Given the description of an element on the screen output the (x, y) to click on. 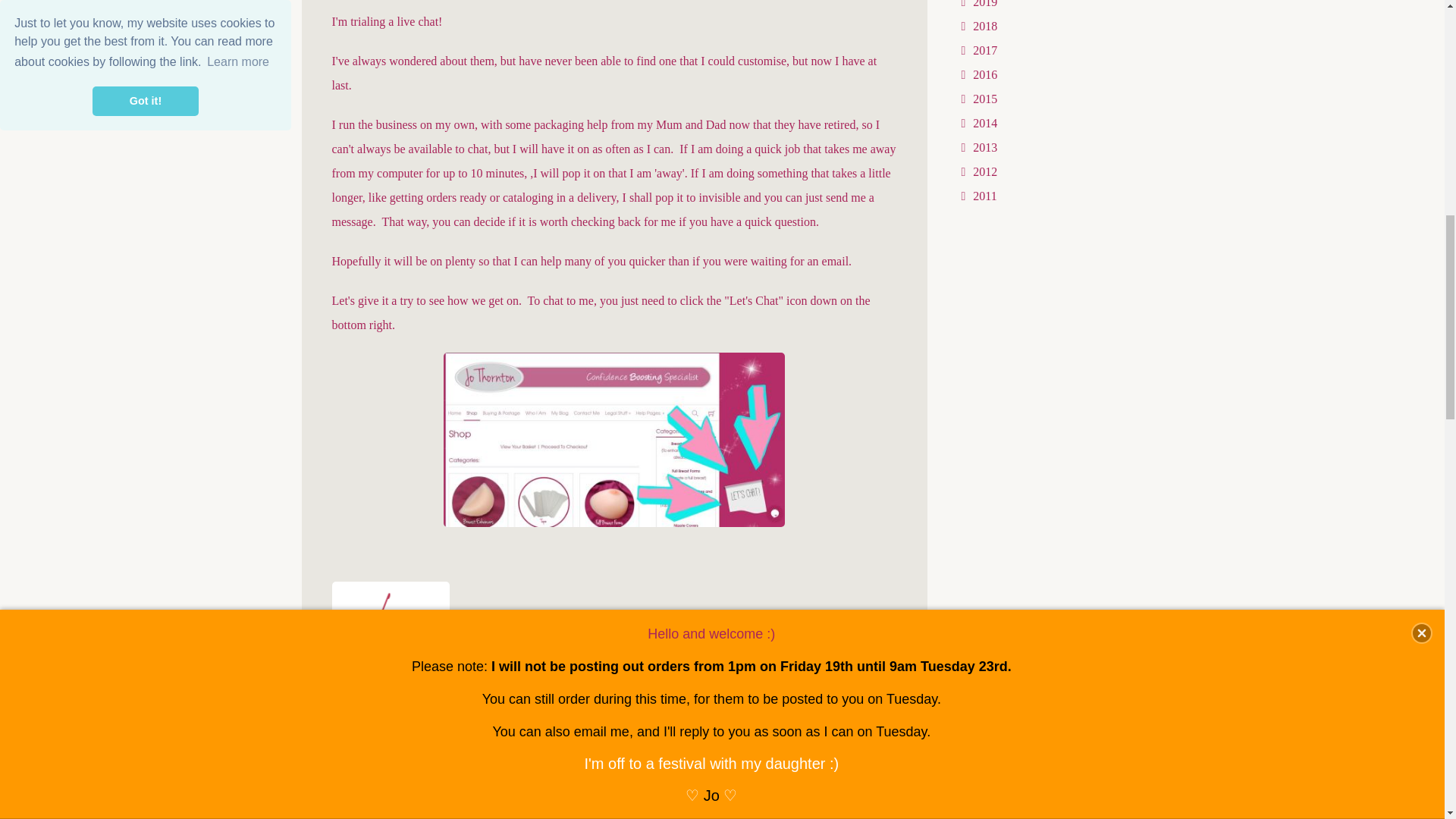
sign-2014-8-20-15.2.46 (390, 625)
